Given the description of an element on the screen output the (x, y) to click on. 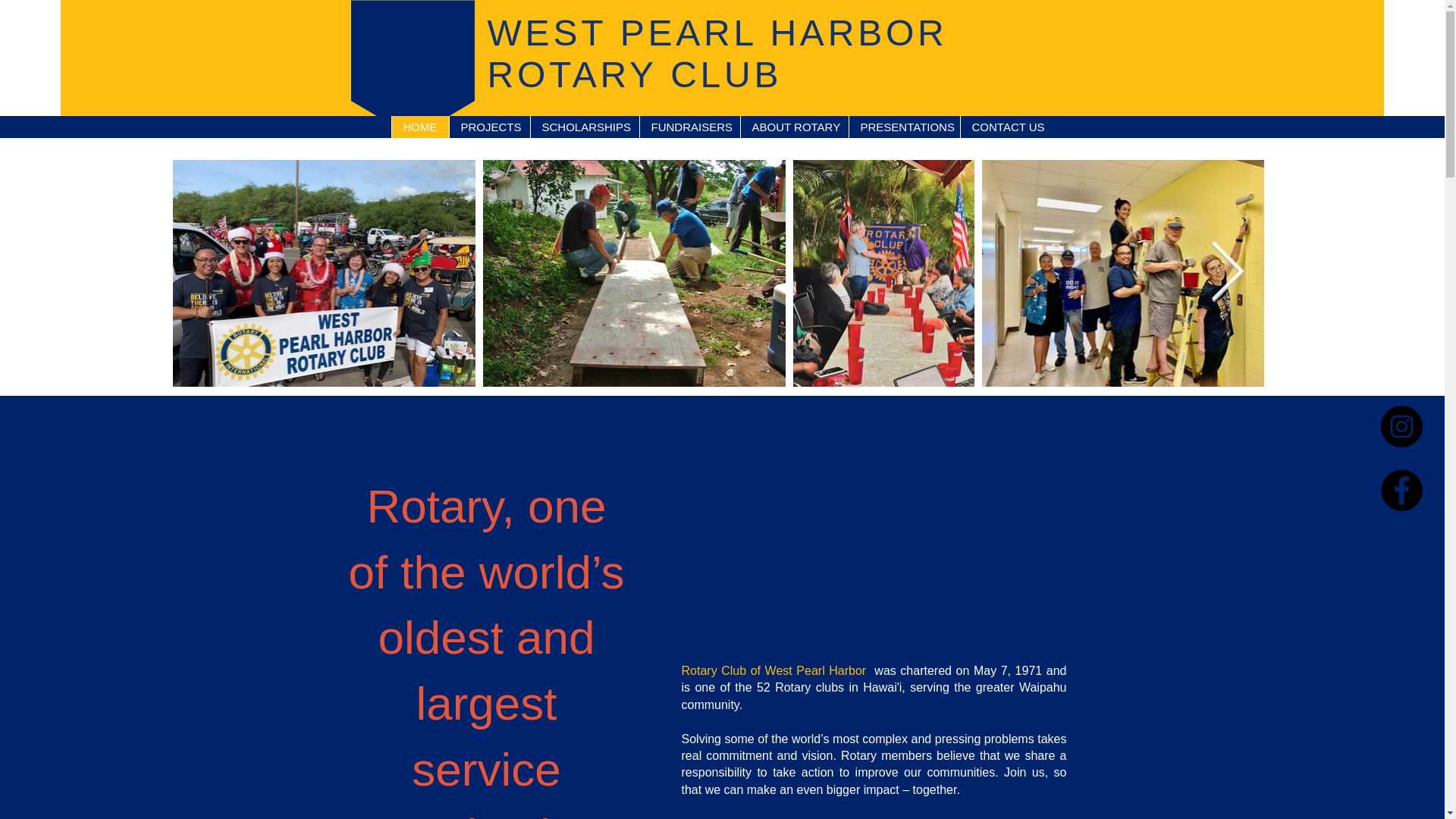
PROJECTS (488, 127)
SCHOLARSHIPS (584, 127)
PRESENTATIONS (903, 127)
CONTACT US (1006, 127)
FUNDRAISERS (689, 127)
HOME (419, 127)
ABOUT ROTARY (793, 127)
